Given the description of an element on the screen output the (x, y) to click on. 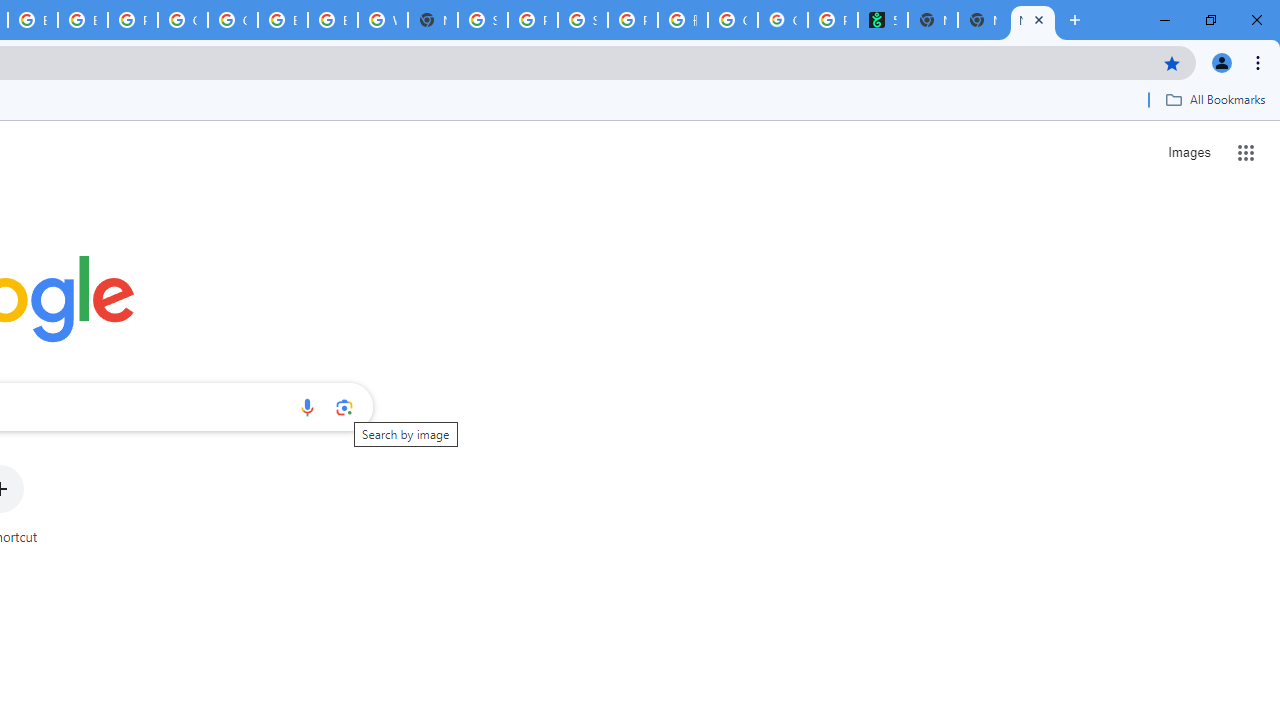
Browse Chrome as a guest - Computer - Google Chrome Help (82, 20)
